Given the description of an element on the screen output the (x, y) to click on. 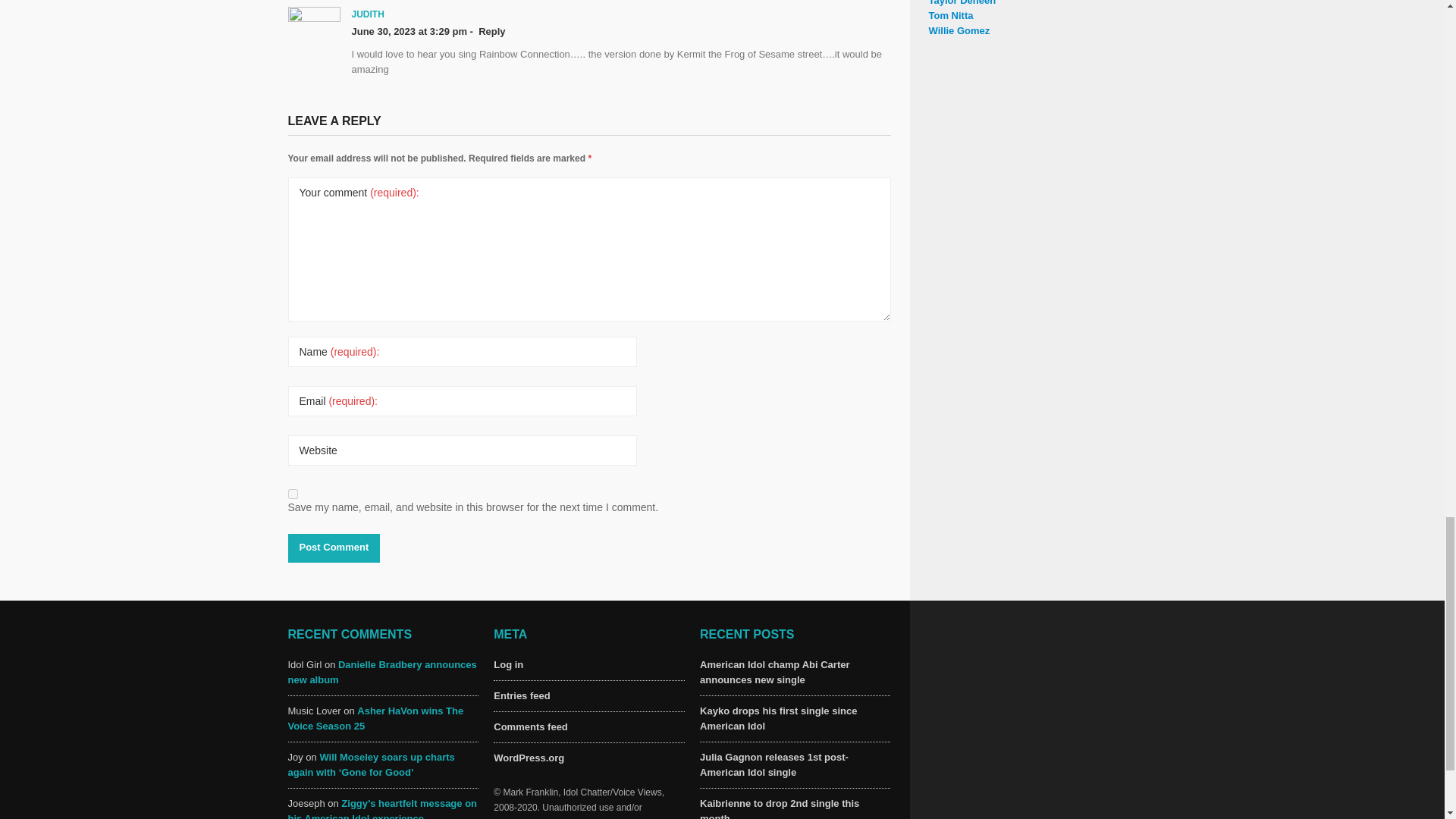
yes (293, 493)
Post Comment (334, 547)
